Given the description of an element on the screen output the (x, y) to click on. 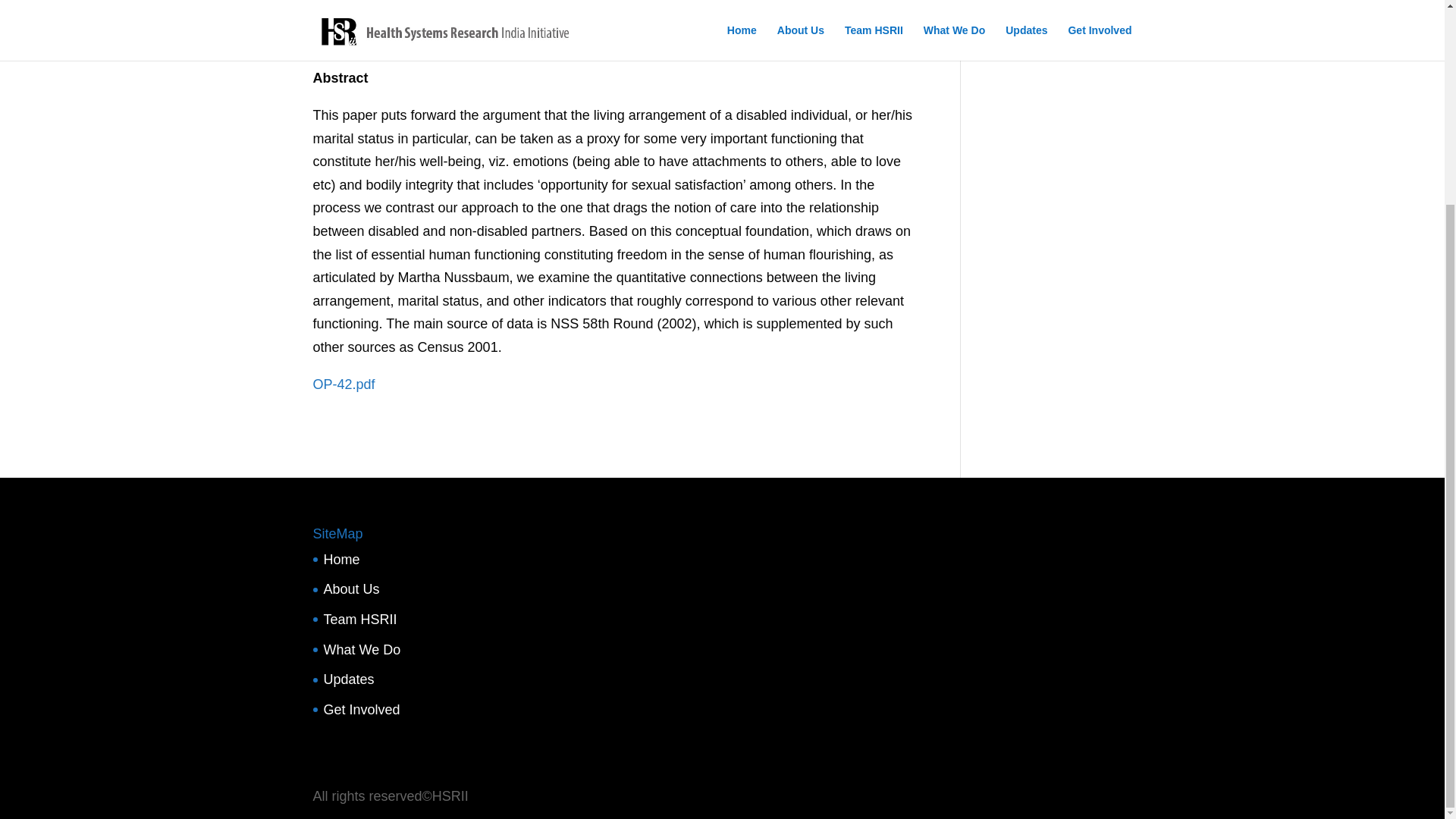
Home (341, 559)
Get Involved (360, 709)
What We Do (361, 649)
About Us (350, 589)
Team HSRII (359, 619)
Updates (348, 679)
OP-42.pdf (343, 384)
